Given the description of an element on the screen output the (x, y) to click on. 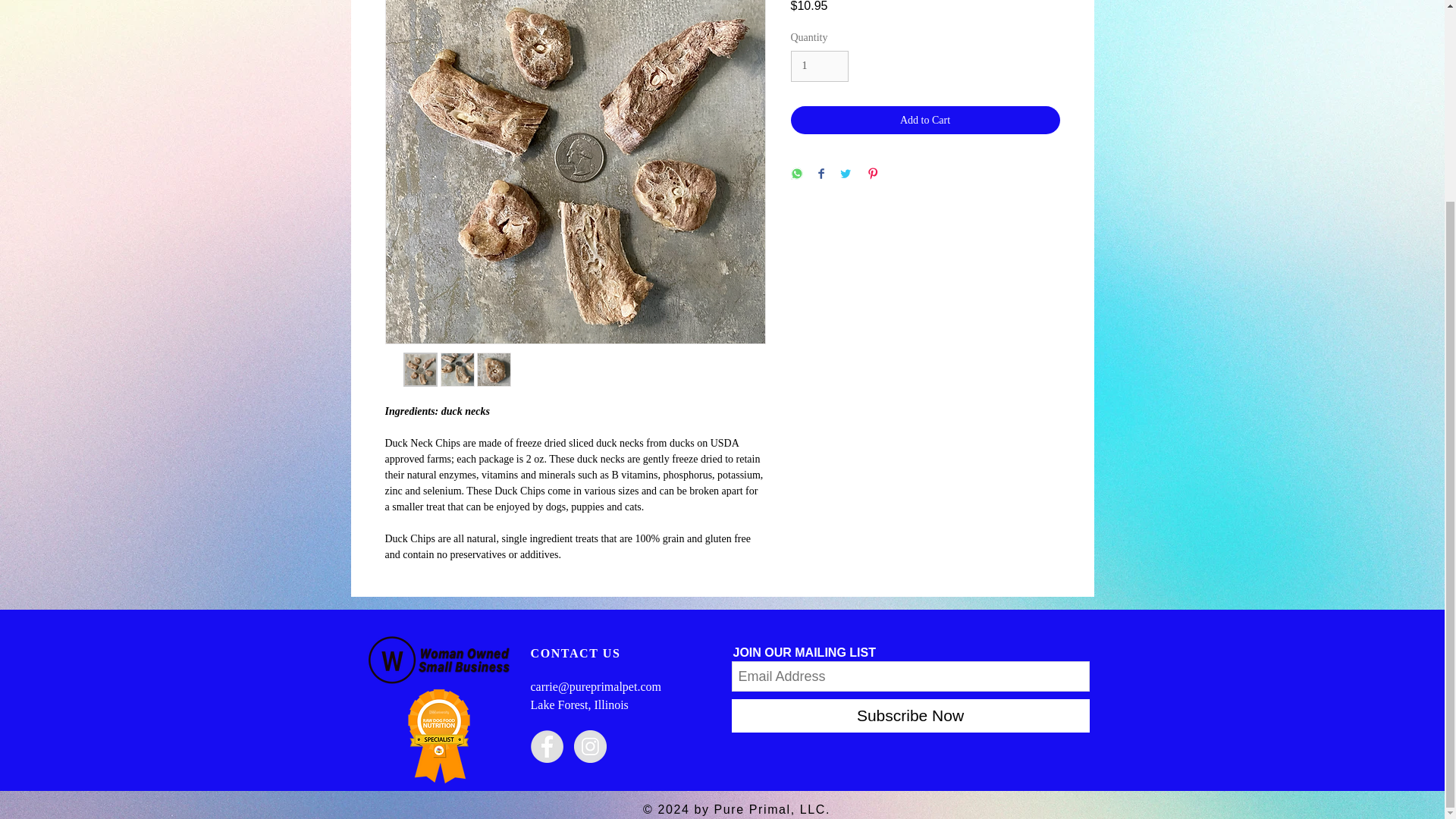
1 (818, 65)
Add to Cart (924, 120)
